Given the description of an element on the screen output the (x, y) to click on. 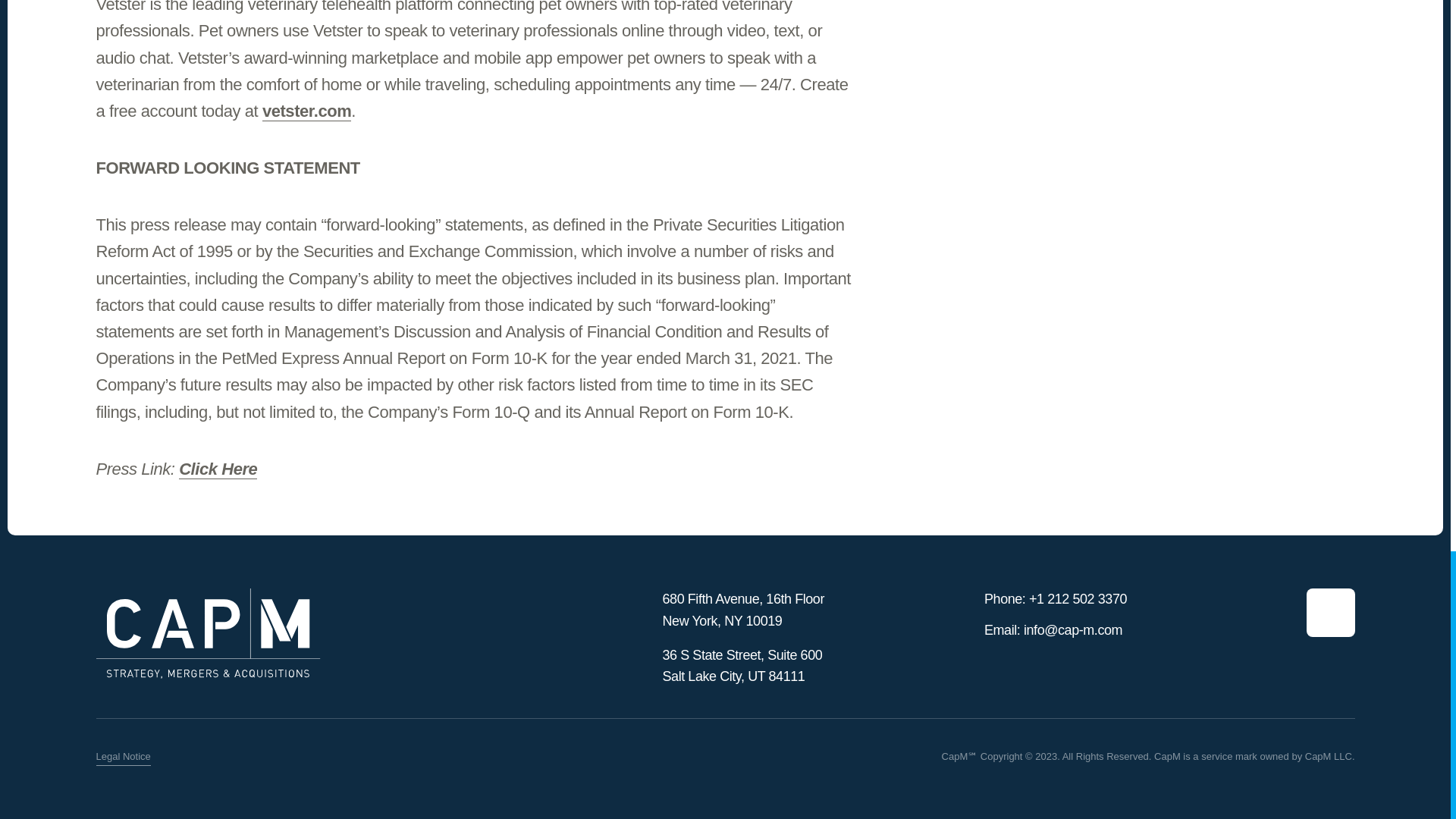
vetster.com (306, 111)
Click Here (218, 469)
Legal Notice (122, 757)
